Given the description of an element on the screen output the (x, y) to click on. 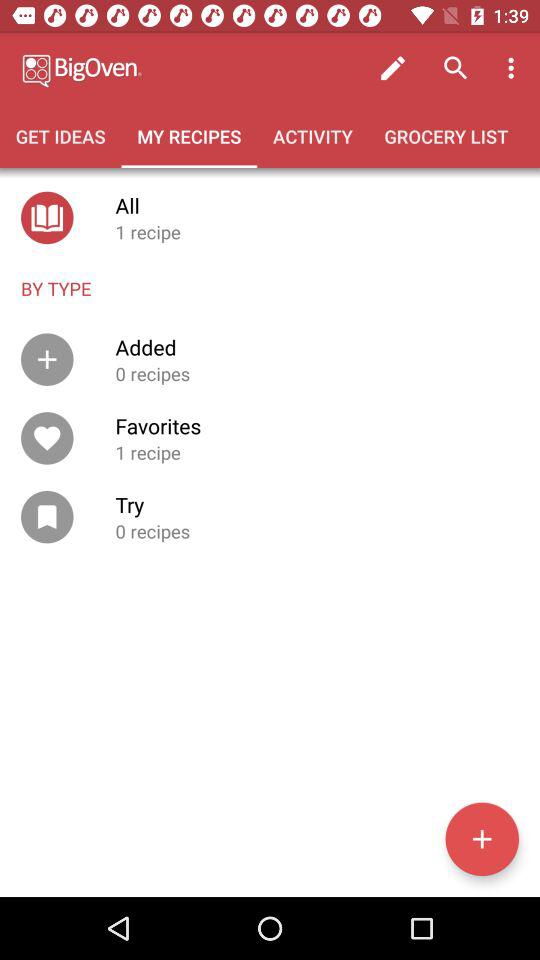
launch the item above the grocery list (513, 67)
